Given the description of an element on the screen output the (x, y) to click on. 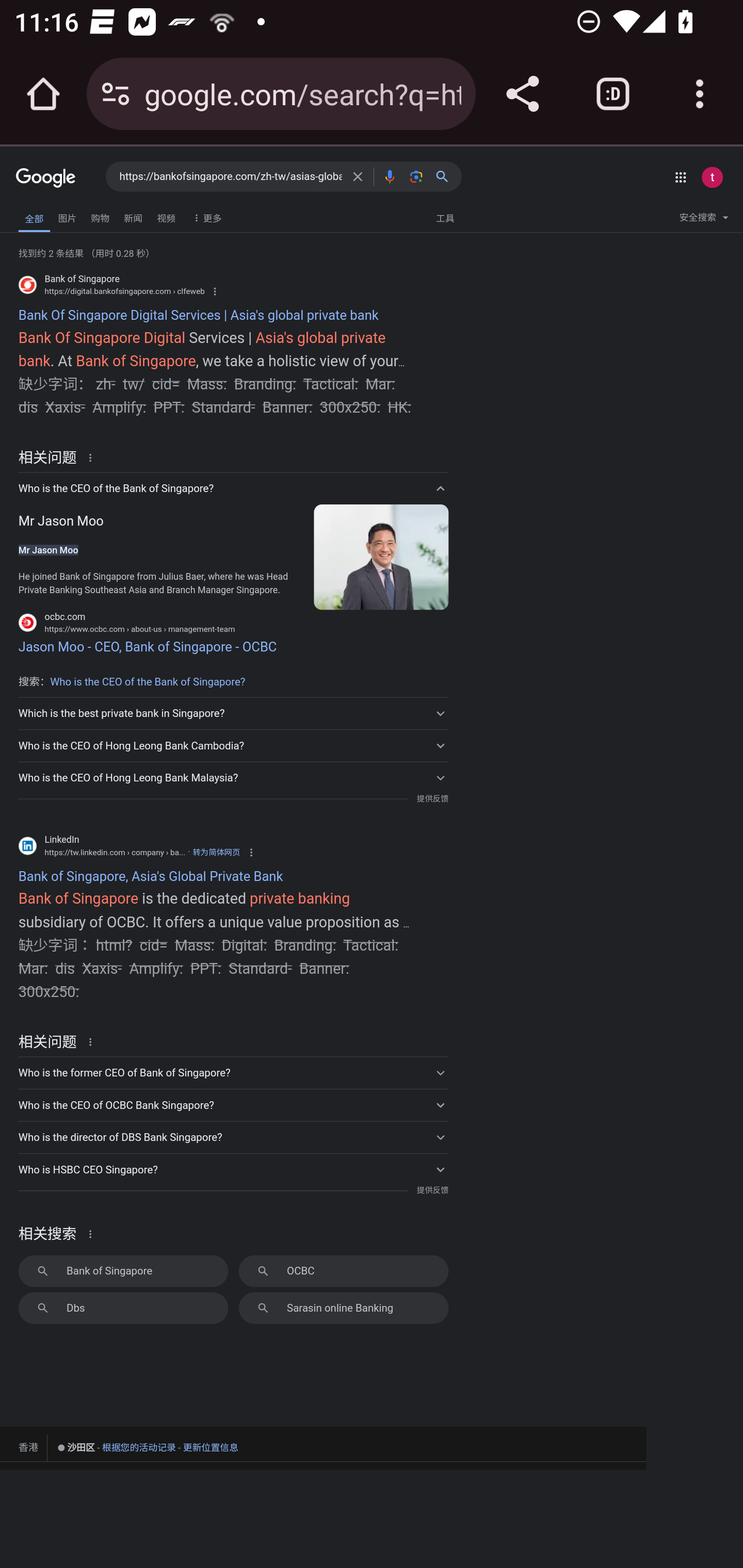
Open the home page (43, 93)
Connection is secure (115, 93)
Share (522, 93)
Switch or close tabs (612, 93)
Customize and control Google Chrome (699, 93)
清除 (357, 176)
按语音搜索 (389, 176)
按图搜索 (415, 176)
搜索 (446, 176)
Google 应用 (680, 176)
Google 账号： test appium (testappium002@gmail.com) (712, 176)
Google (45, 178)
无障碍功能反馈 (42, 212)
图片 (67, 216)
购物 (99, 216)
新闻 (133, 216)
视频 (166, 216)
更多 (205, 216)
安全搜索 (703, 219)
工具 (444, 216)
关于这条结果的详细信息 (93, 457)
Who is the CEO of the Bank of Singapore? (232, 487)
Who is the CEO of the Bank of Singapore? (147, 681)
Which is the best private bank in Singapore? (232, 712)
Who is the CEO of Hong Leong Bank Cambodia? (232, 745)
Who is the CEO of Hong Leong Bank Malaysia? (232, 777)
提供反馈 (432, 798)
转为简体网页 (216, 851)
关于这条结果的详细信息 (93, 1040)
Who is the former CEO of Bank of Singapore? (232, 1072)
Who is the CEO of OCBC Bank Singapore? (232, 1104)
Who is the director of DBS Bank Singapore? (232, 1137)
Who is HSBC CEO Singapore? (232, 1168)
提供反馈 (432, 1189)
关于这条结果的详细信息 (93, 1233)
Bank of Singapore (122, 1270)
OCBC (343, 1270)
Dbs (122, 1307)
Sarasin online Banking (343, 1307)
沙田区  - 根据您的活动记录 (116, 1447)
更新位置信息 (210, 1446)
